Given the description of an element on the screen output the (x, y) to click on. 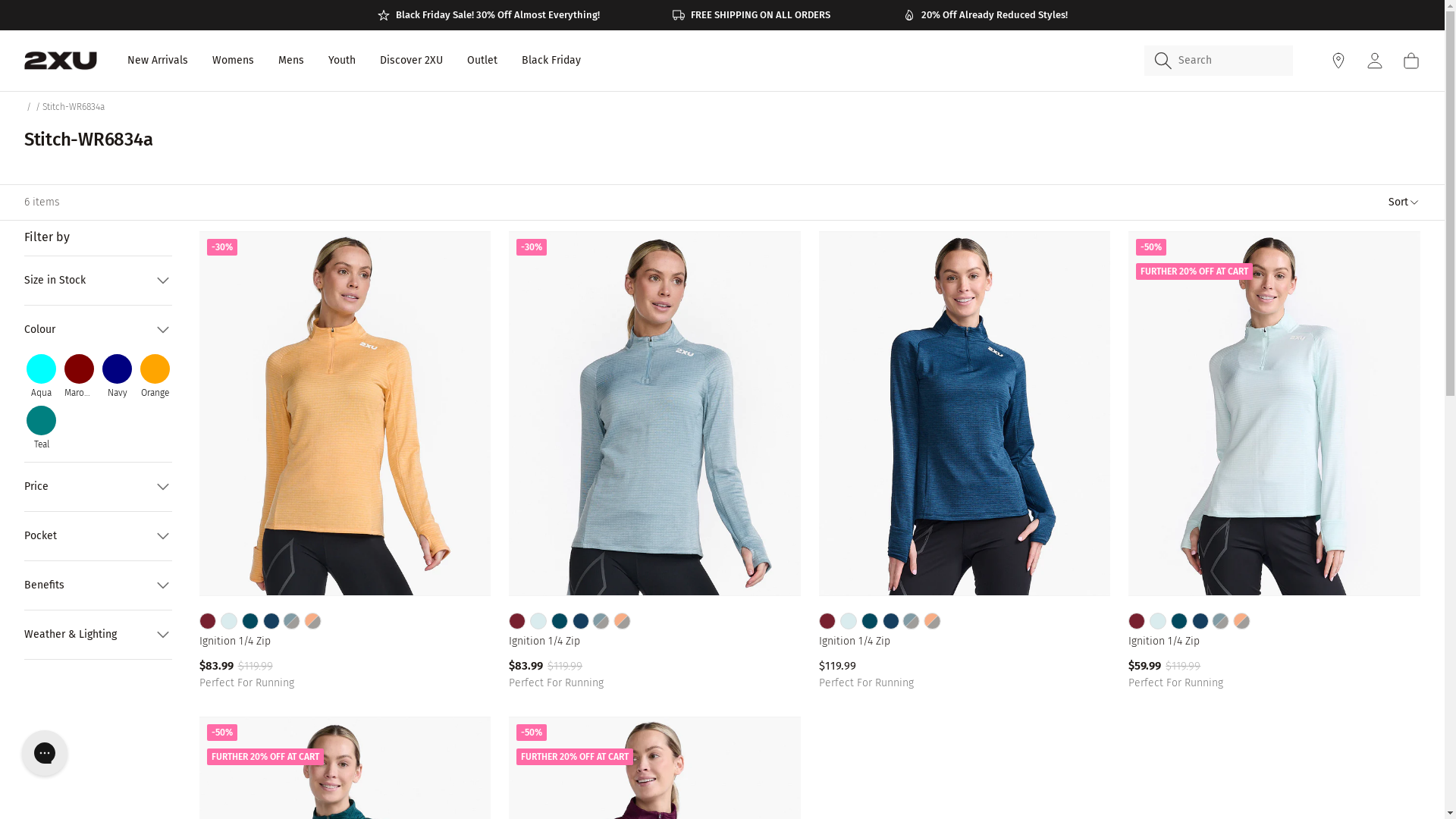
Outlet Element type: text (482, 60)
Ignition 1/4 Zip Element type: text (1274, 641)
Discover 2XU Element type: text (411, 60)
Womens Element type: text (233, 60)
Youth Element type: text (341, 60)
Navy Element type: text (116, 376)
Aqua Element type: text (41, 376)
New Arrivals Element type: text (157, 60)
Mens Element type: text (291, 60)
20% Off Already Reduced Styles! Element type: text (984, 14)
Black Friday Sale! 30% Off Almost Everything! Element type: text (488, 14)
Ignition 1/4 Zip Element type: text (964, 641)
Cart Element type: text (1411, 60)
Teal Element type: text (41, 427)
Orange Element type: text (154, 376)
Login Element type: text (1374, 60)
Ignition 1/4 Zip Element type: text (345, 641)
Ignition 1/4 Zip Element type: text (654, 641)
Maroon Element type: text (79, 376)
Ignition 1/4 Zip
Regular price
$119.99
Perfect For Running Element type: text (964, 464)
Black Friday Element type: text (551, 60)
Gorgias live chat messenger Element type: hover (44, 752)
